Given the description of an element on the screen output the (x, y) to click on. 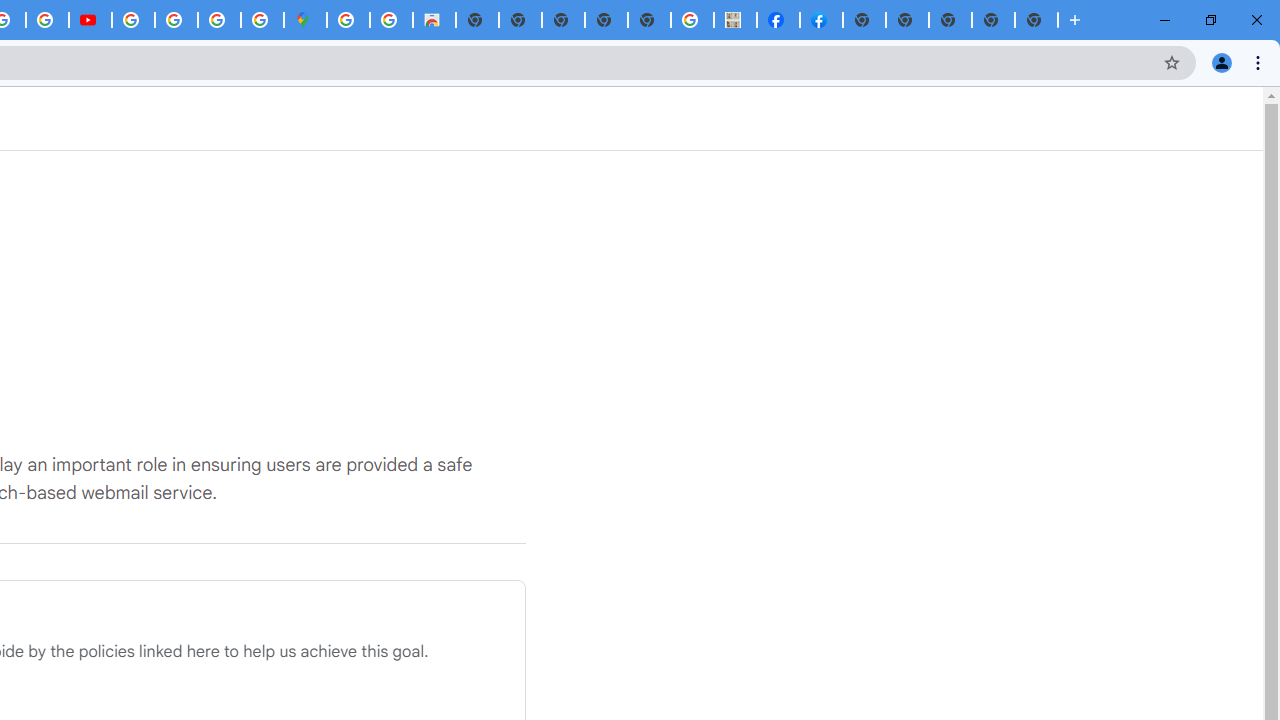
Miley Cyrus | Facebook (777, 20)
Google Maps (305, 20)
Subscriptions - YouTube (90, 20)
MILEY CYRUS. (735, 20)
